Given the description of an element on the screen output the (x, y) to click on. 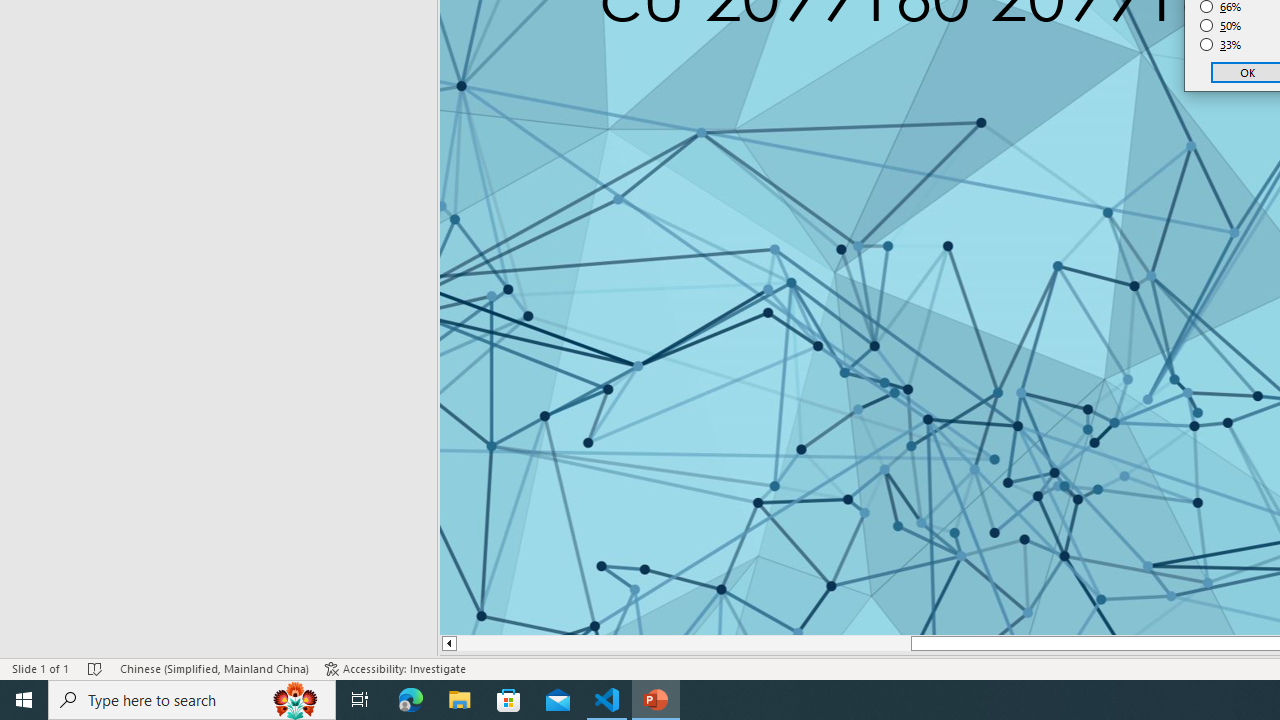
50% (1221, 25)
33% (1221, 44)
